Given the description of an element on the screen output the (x, y) to click on. 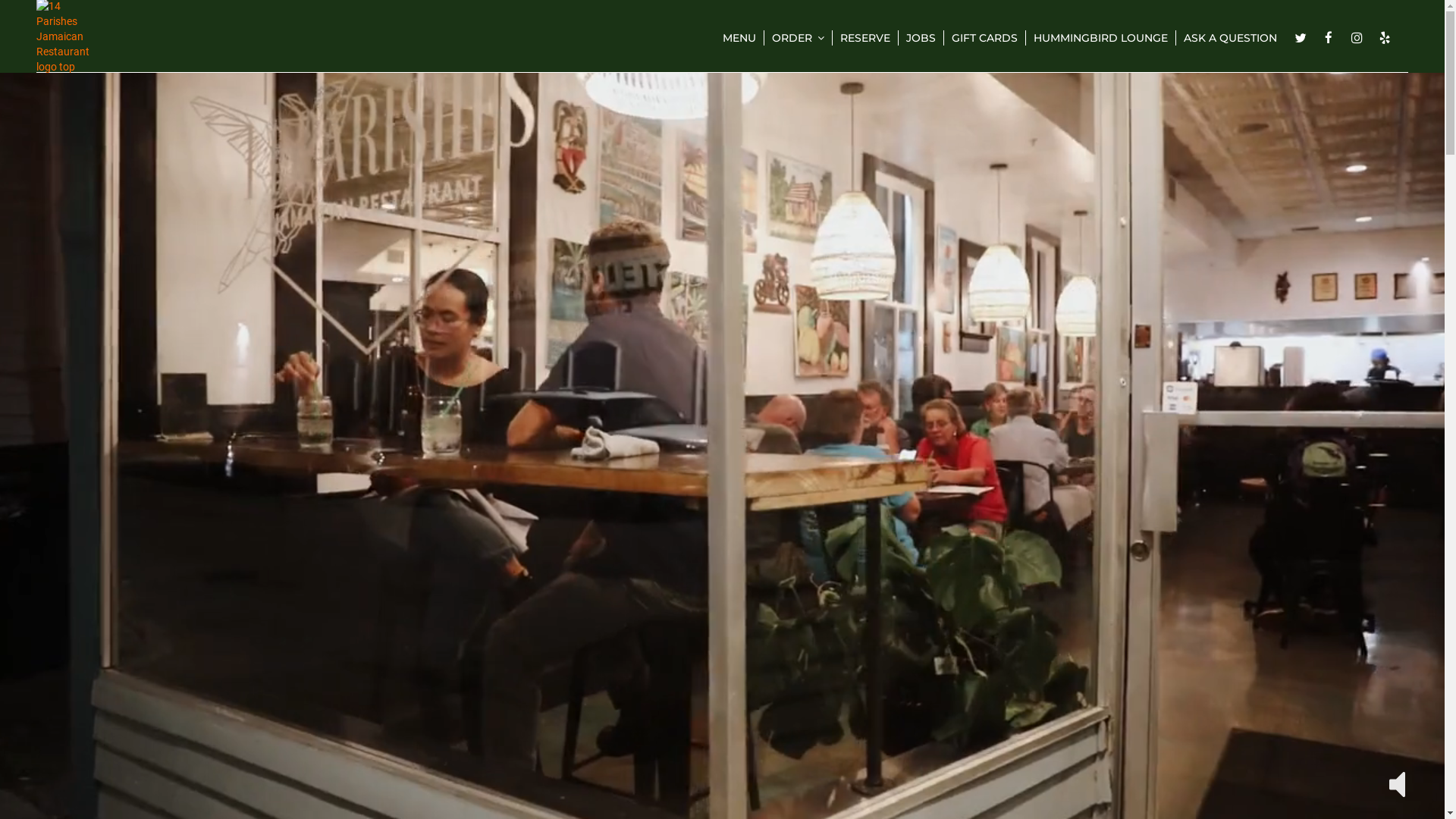
ORDER Element type: text (798, 37)
HUMMINGBIRD LOUNGE Element type: text (1101, 37)
GIFT CARDS Element type: text (985, 37)
RESERVE Element type: text (865, 37)
JOBS Element type: text (921, 37)
MENU Element type: text (739, 37)
ASK A QUESTION Element type: text (1230, 37)
